Given the description of an element on the screen output the (x, y) to click on. 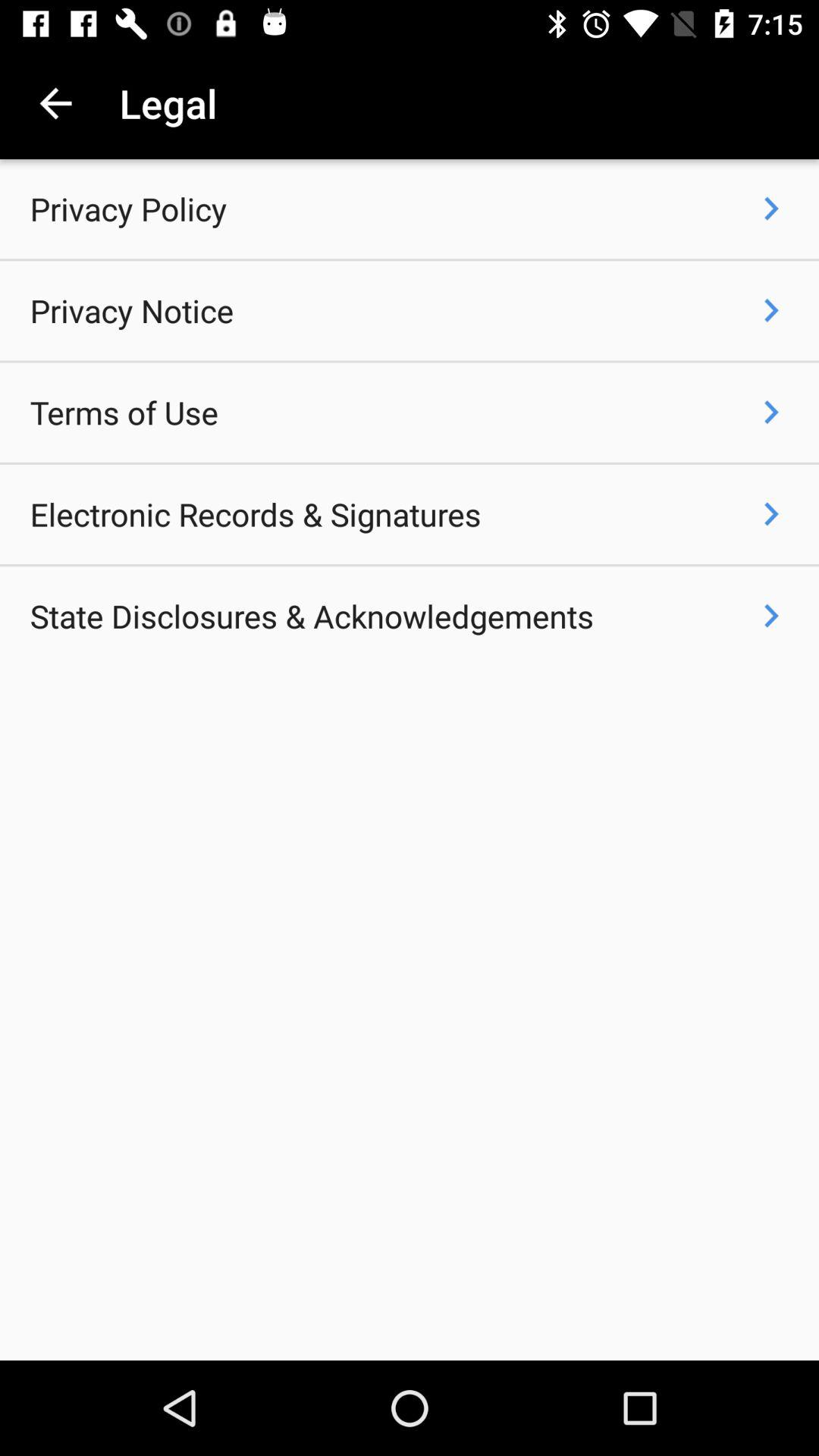
turn off the item to the right of privacy notice item (771, 310)
